Given the description of an element on the screen output the (x, y) to click on. 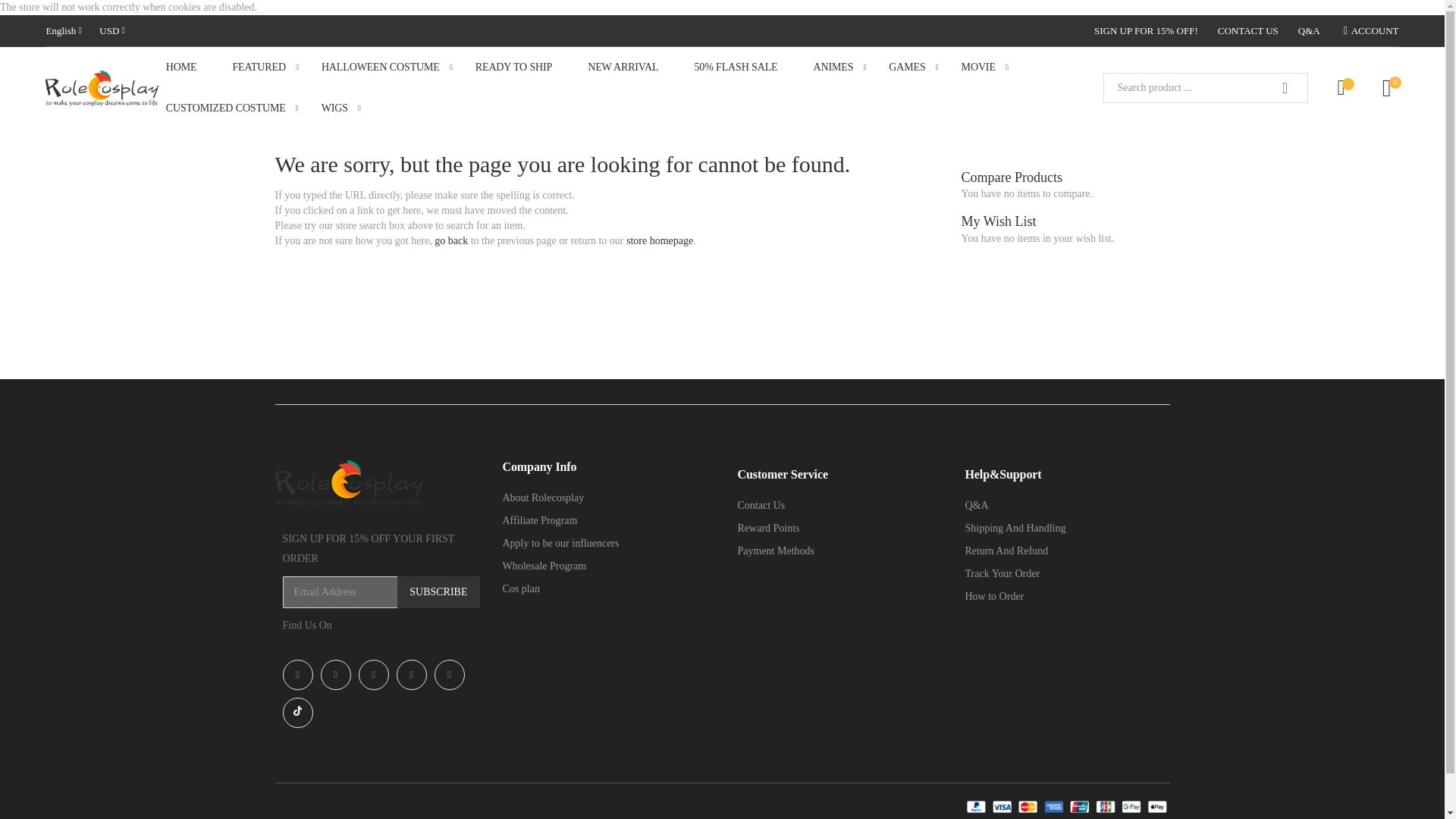
Youtube (373, 675)
HOME (191, 66)
Instagram (335, 675)
FEATURED (268, 66)
Pinterest (411, 675)
Subscribe (438, 592)
Search (1284, 87)
Account (1359, 30)
Tiktok (297, 712)
CONTACT US (1238, 30)
